Given the description of an element on the screen output the (x, y) to click on. 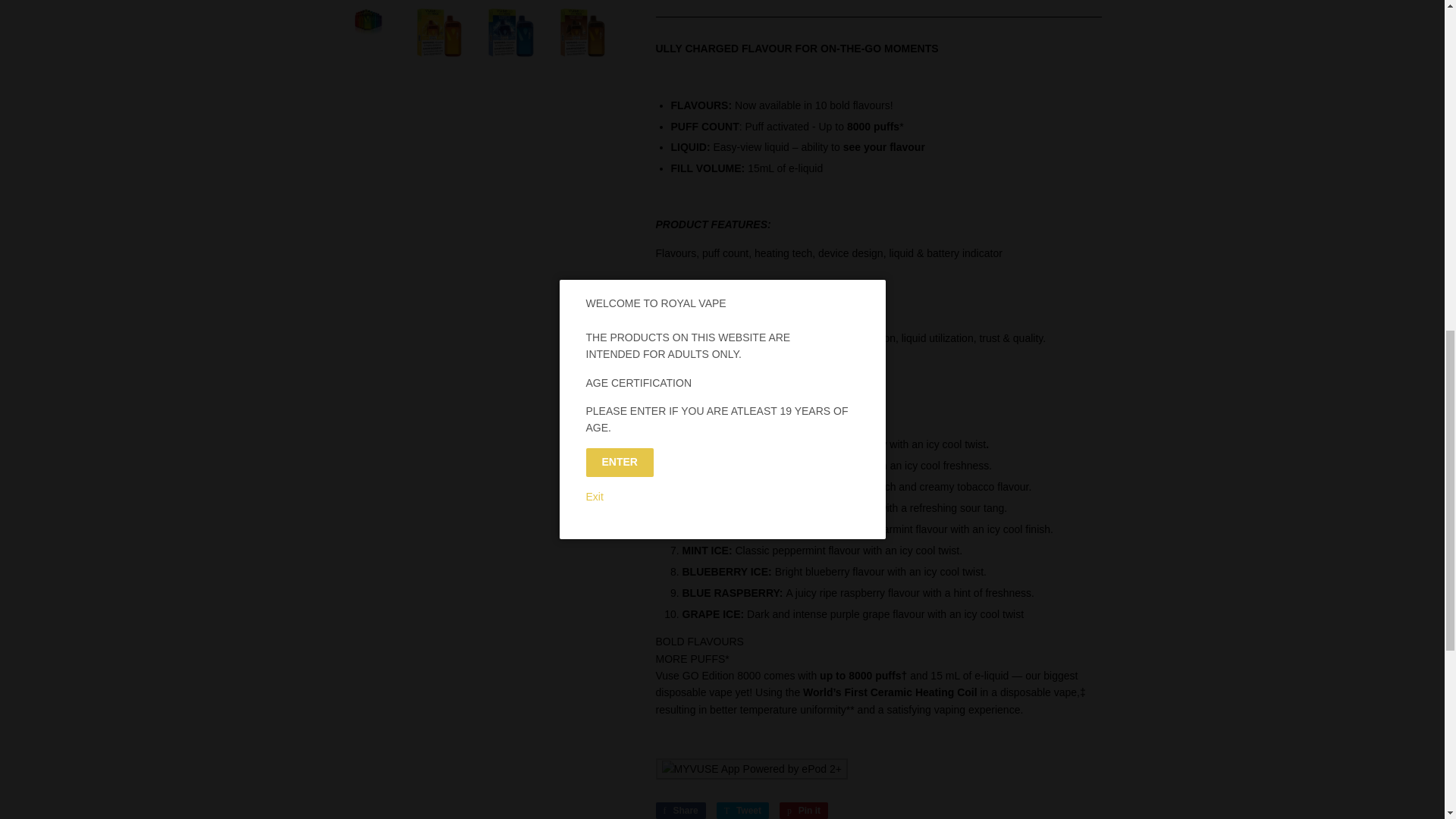
Share on Facebook (679, 810)
Pin on Pinterest (803, 810)
Tweet on Twitter (742, 810)
